Given the description of an element on the screen output the (x, y) to click on. 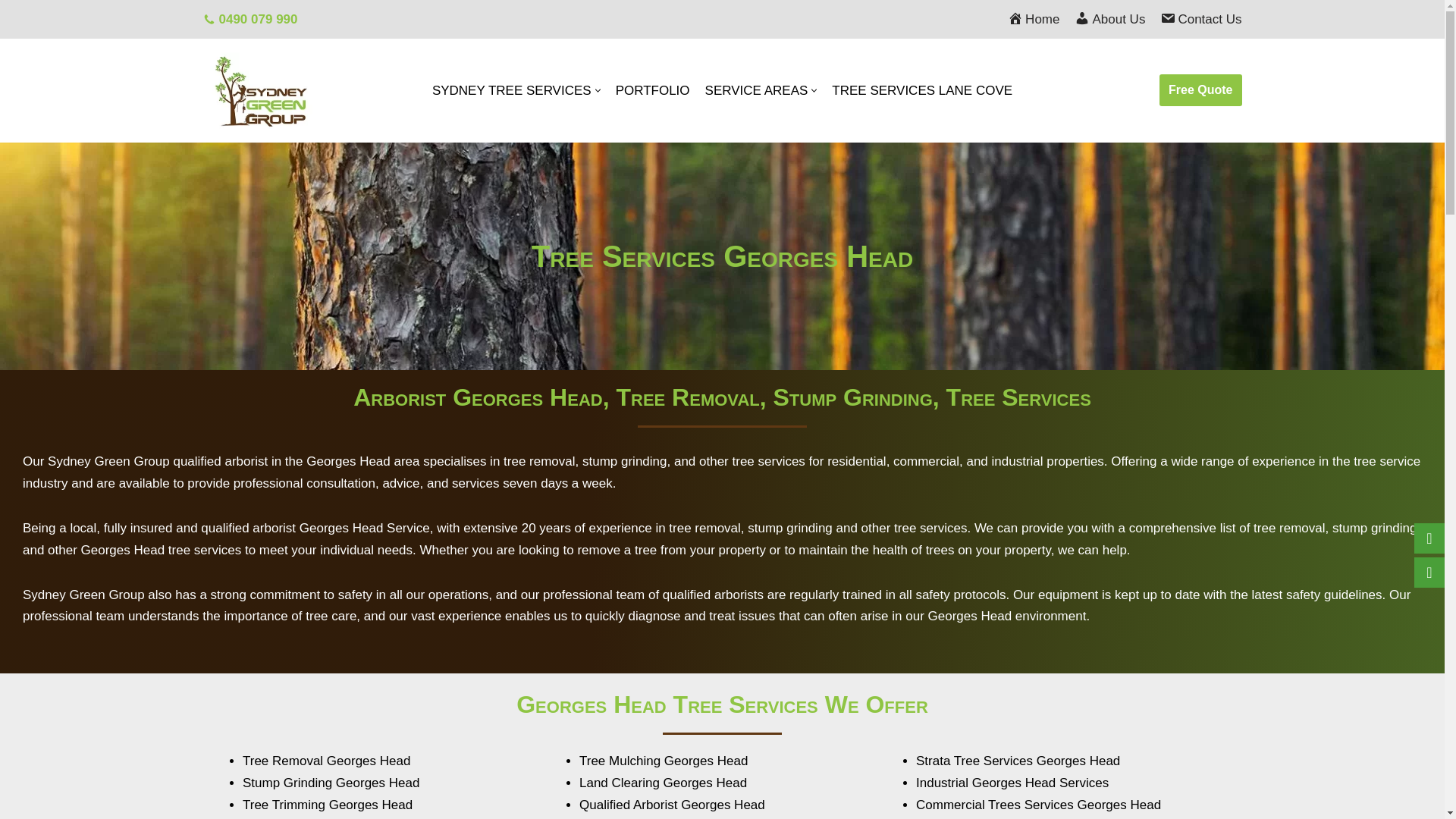
Free Quote (1199, 90)
0490 079 990 (257, 19)
About Us (1109, 19)
Skip to content (11, 31)
SERVICE AREAS (760, 90)
SYDNEY TREE SERVICES (515, 90)
PORTFOLIO (652, 90)
Home (1033, 19)
Contact Us (1200, 19)
Sydney Green Group (260, 90)
TREE SERVICES LANE COVE (921, 90)
